Given the description of an element on the screen output the (x, y) to click on. 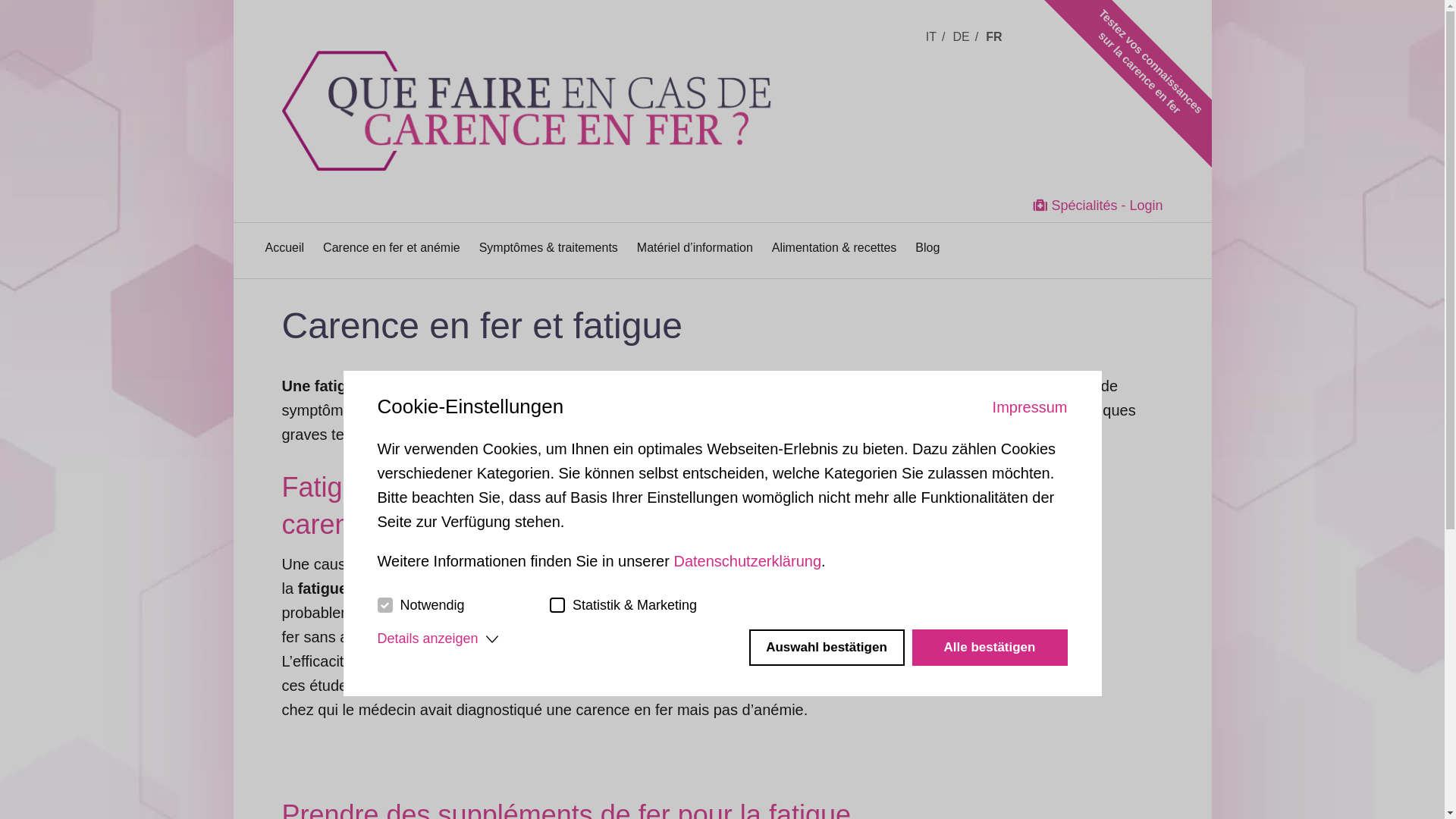
Testez vos connaissances
sur la carence en fer Element type: text (1149, 23)
Accueil Element type: text (284, 247)
Impressum Element type: text (1029, 406)
IT Element type: text (935, 36)
Blog Element type: text (927, 247)
Alimentation & recettes Element type: text (834, 247)
DE Element type: text (965, 36)
Carence en fer et fatigue Element type: text (482, 325)
Zur Startseite Element type: hover (559, 85)
FR Element type: text (996, 36)
